Given the description of an element on the screen output the (x, y) to click on. 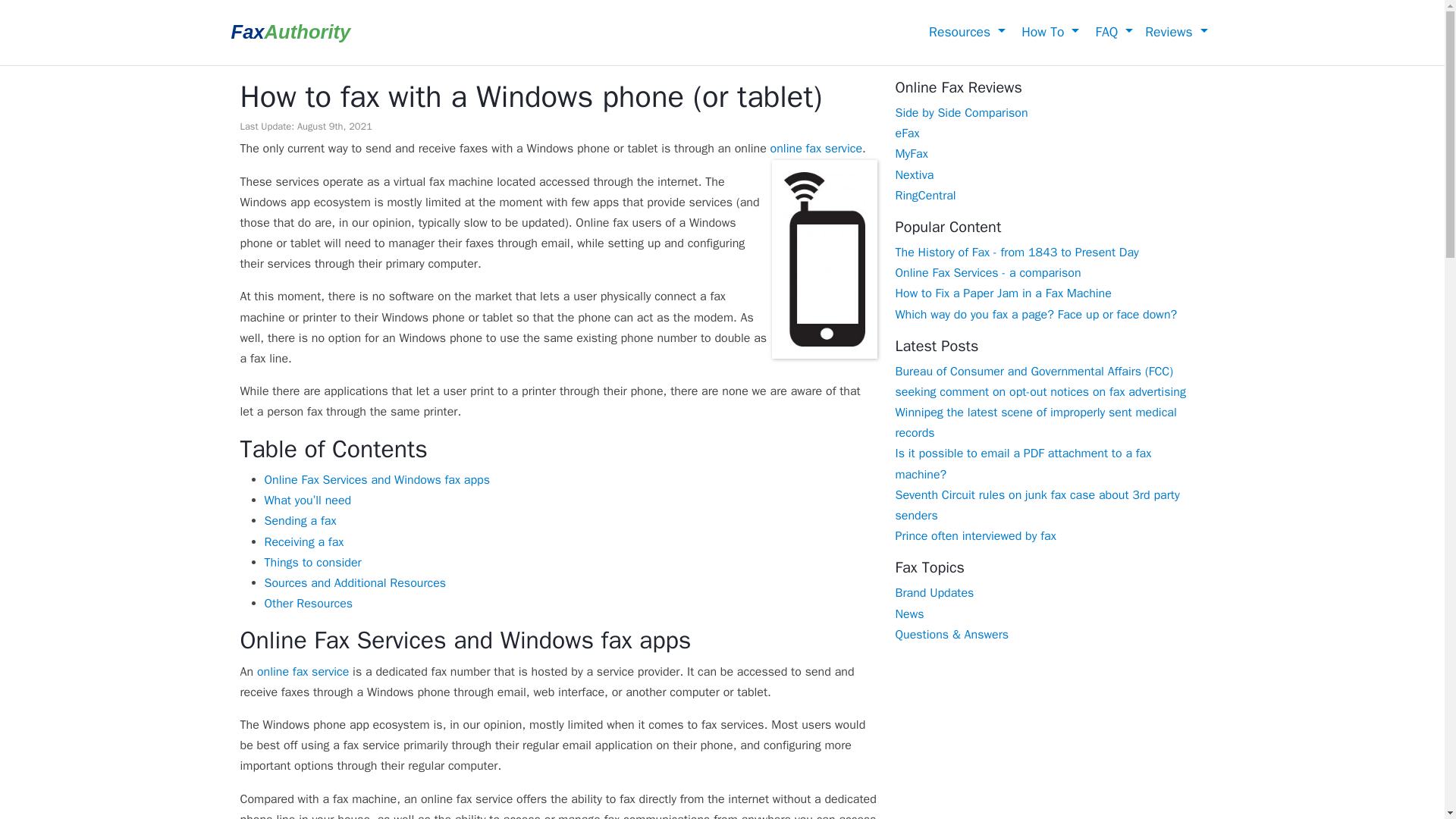
Faxing How To (1047, 32)
online fax service (815, 148)
 How To (1047, 32)
 FAQ (1111, 32)
Reviews (1175, 32)
FaxAuthority (290, 32)
Fax Authority (290, 32)
Fax Resources (964, 32)
 Resources (964, 32)
